Given the description of an element on the screen output the (x, y) to click on. 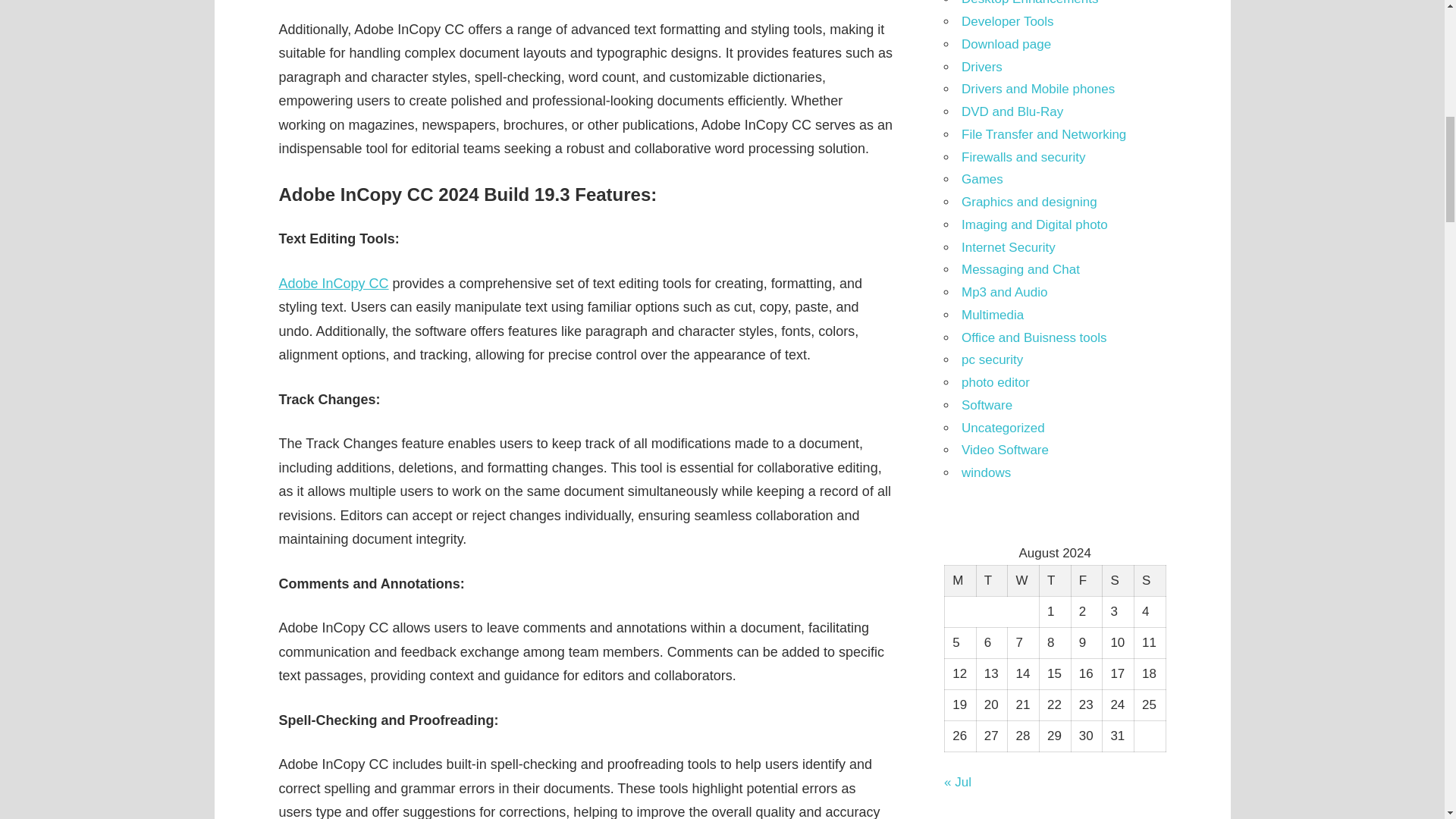
Adobe InCopy CC (333, 283)
